Given the description of an element on the screen output the (x, y) to click on. 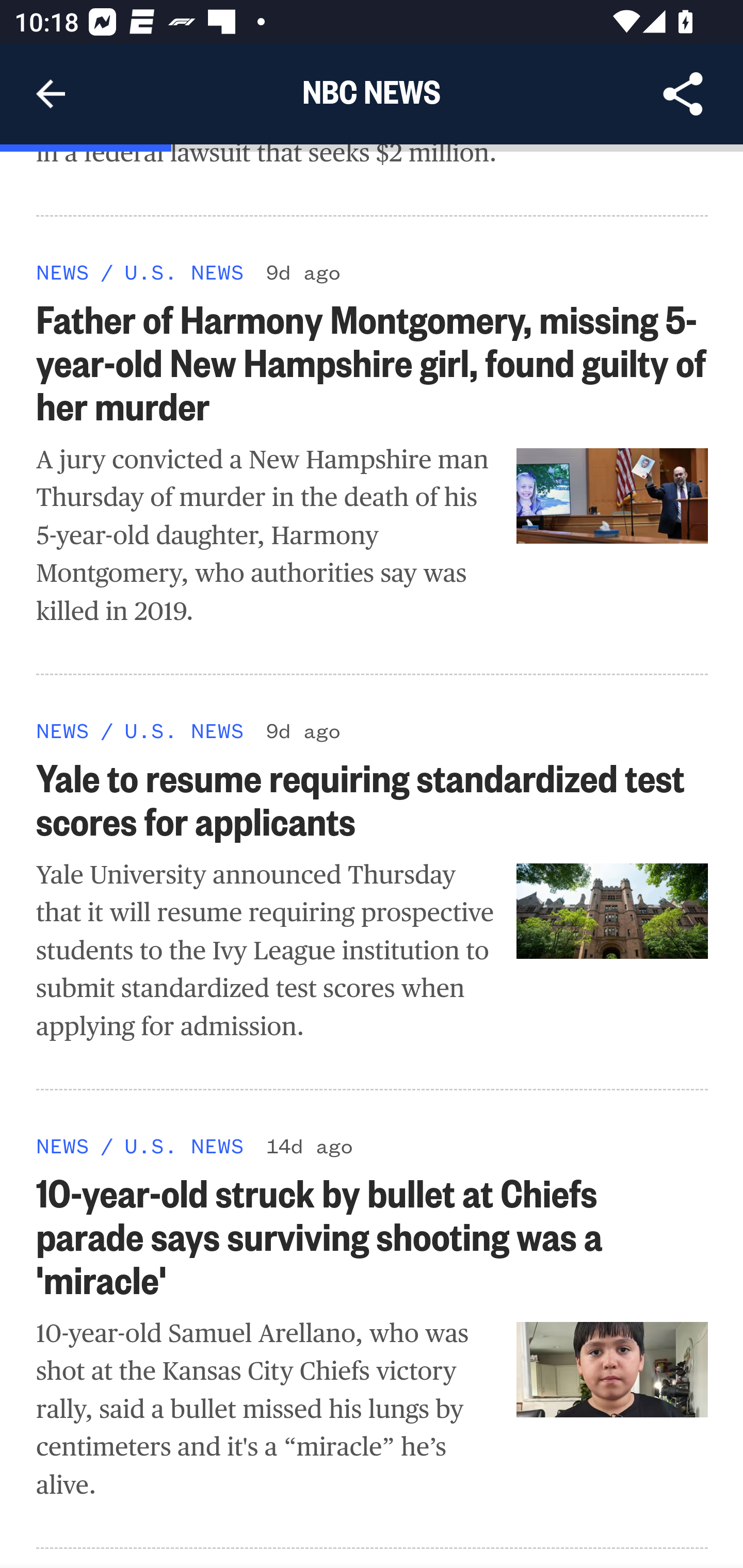
Navigate up (50, 93)
Share Article, button (683, 94)
NEWS NEWS NEWS (63, 272)
U.S. NEWS U.S. NEWS U.S. NEWS (183, 272)
NEWS NEWS NEWS (63, 730)
U.S. NEWS U.S. NEWS U.S. NEWS (183, 730)
NEWS NEWS NEWS (63, 1145)
U.S. NEWS U.S. NEWS U.S. NEWS (183, 1145)
